Given the description of an element on the screen output the (x, y) to click on. 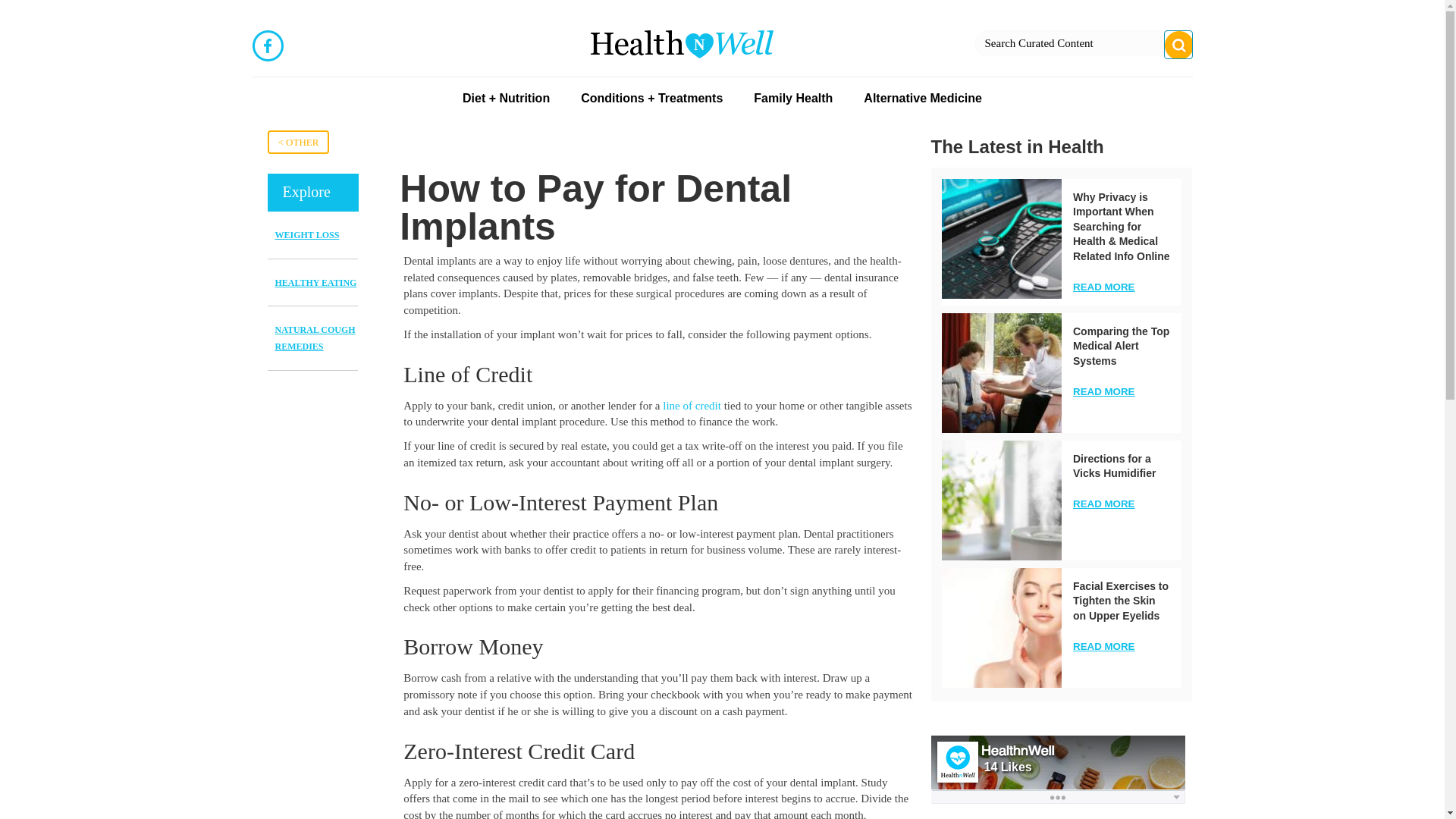
Comparing the Top Medical Alert Systems (1121, 345)
Directions for a Vicks Humidifier (1001, 500)
Comparing the Top Medical Alert Systems (1121, 345)
READ MORE (1103, 503)
Family Health (793, 99)
health-n-well.svg (681, 44)
WEIGHT LOSS (307, 235)
Directions for a Vicks Humidifier (1114, 465)
Alternative Medicine (922, 99)
READ MORE (1103, 645)
HEALTHY EATING (315, 282)
Directions for a Vicks Humidifier (1114, 465)
Go to the Other category archives. (297, 141)
Comparing the Top Medical Alert Systems (1001, 372)
Facial Exercises to Tighten the Skin on Upper Eyelids (1121, 600)
